Given the description of an element on the screen output the (x, y) to click on. 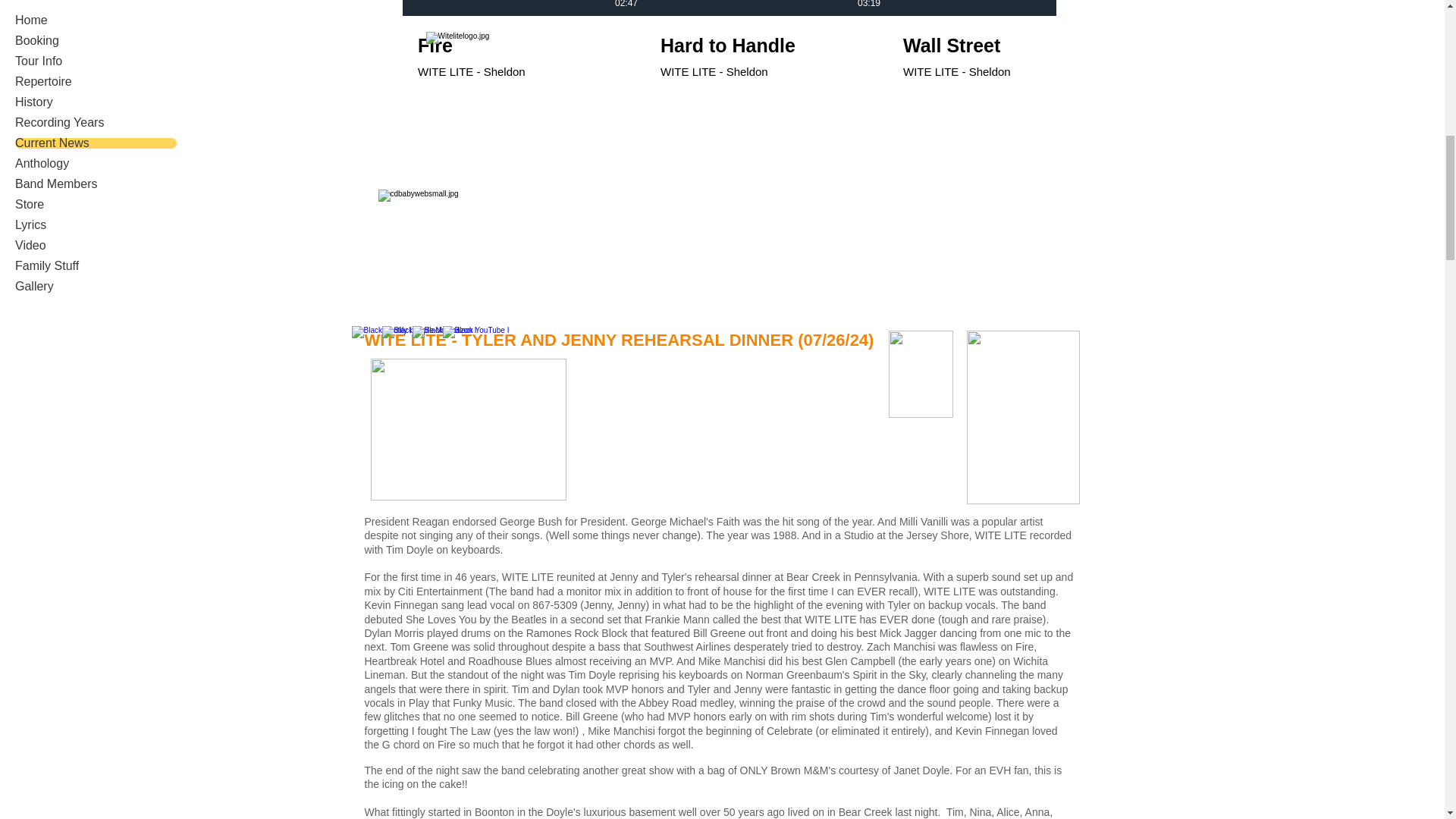
Hard to Handle (765, 45)
Fire (522, 45)
Wall Street (1007, 46)
WITELITE2024.jpg (765, 46)
